Given the description of an element on the screen output the (x, y) to click on. 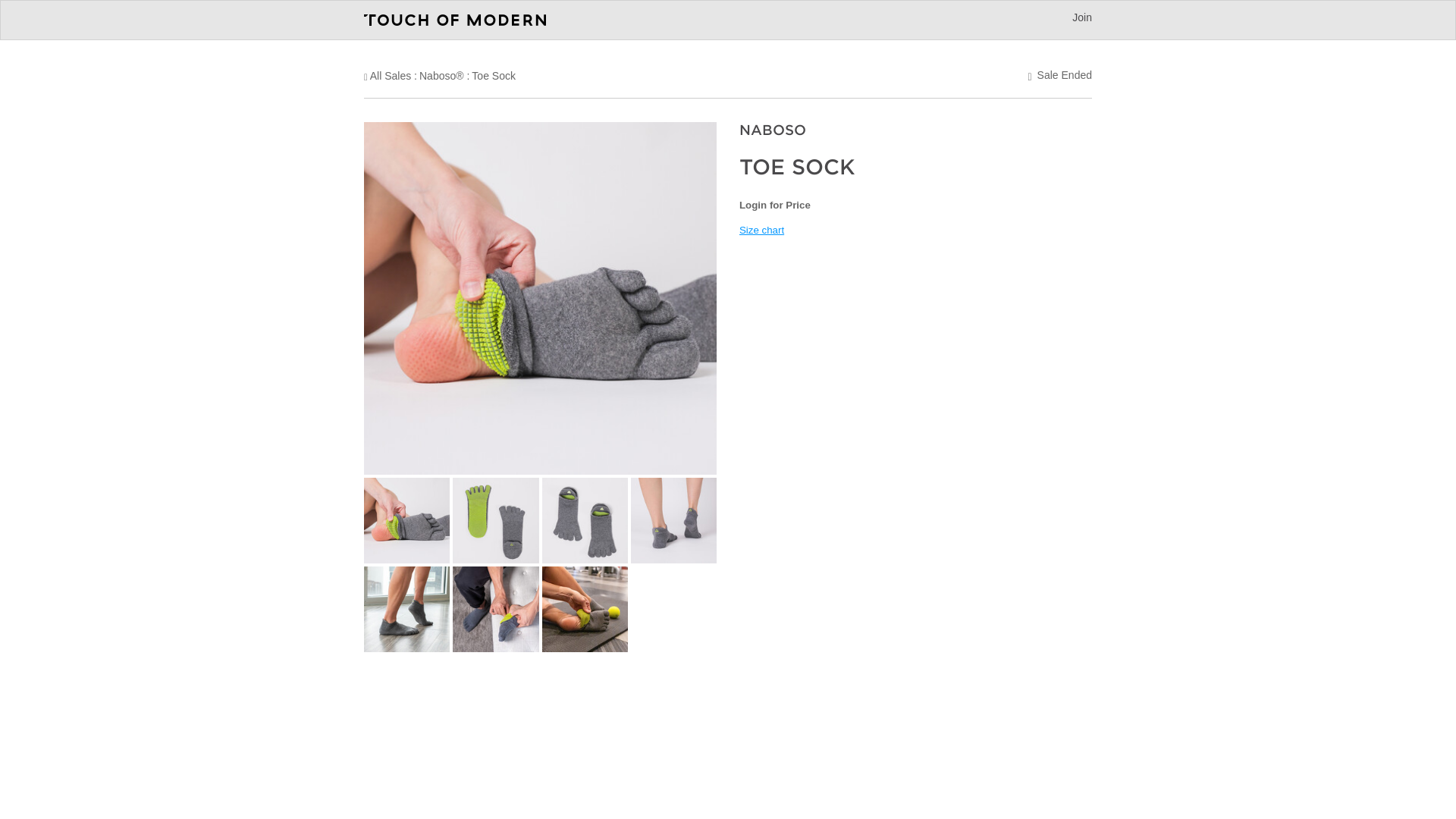
Join (1081, 17)
All Sales (389, 75)
Size chart (761, 229)
All Sales (389, 75)
